Given the description of an element on the screen output the (x, y) to click on. 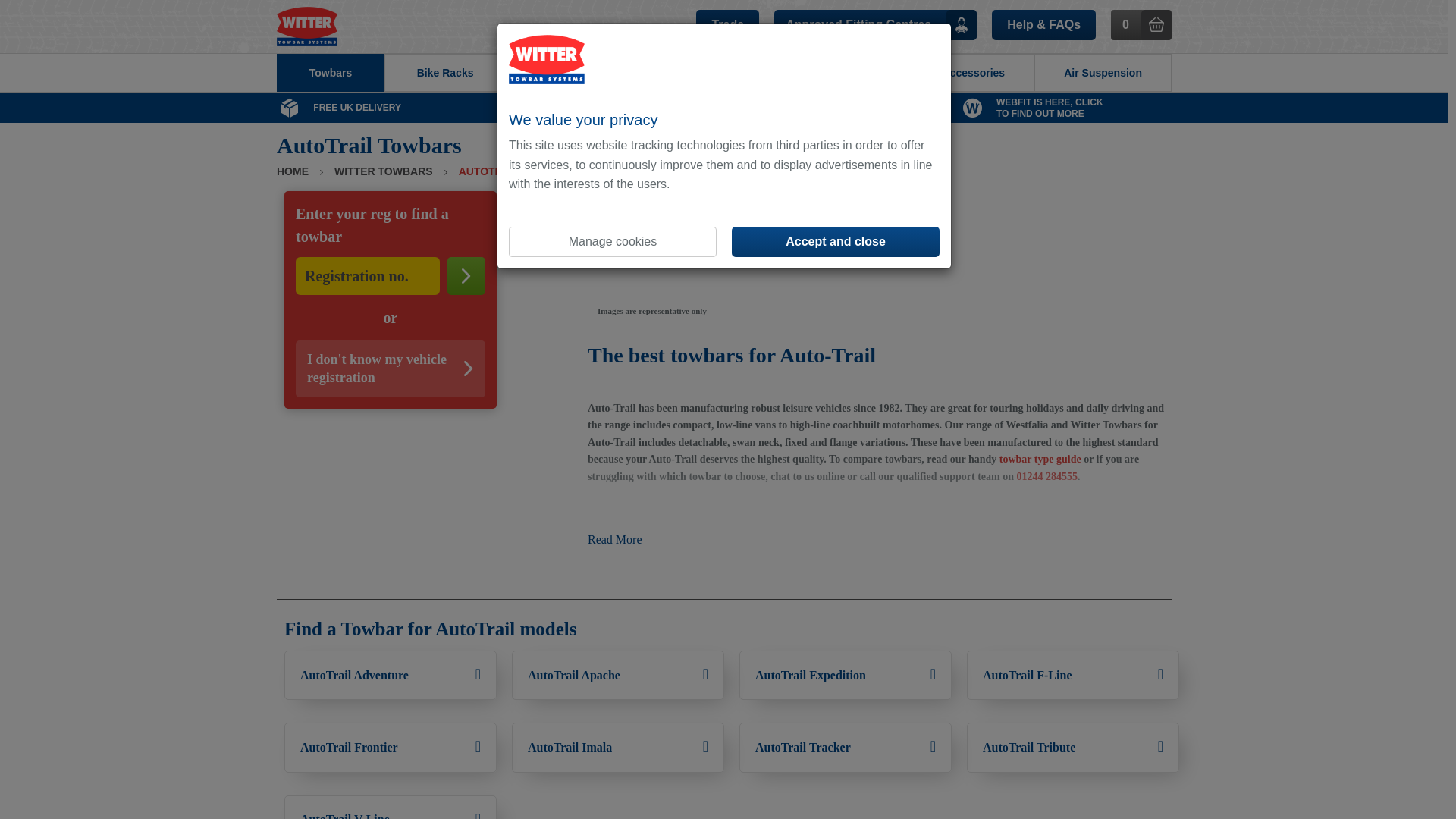
towbar type guide (1039, 459)
Air Suspension (1102, 72)
Caravan Movers (578, 72)
Trade (726, 24)
Towbar Necks (847, 72)
AutoTrail F-Line (1072, 675)
HOME (292, 171)
Electrical Kits (717, 72)
Bike Racks (444, 72)
WITTER TOWBARS (383, 171)
AutoTrail Apache (617, 675)
Approved Fitting Centres (330, 72)
01244 284555 (875, 24)
I don't know my vehicle registration (1046, 476)
